Given the description of an element on the screen output the (x, y) to click on. 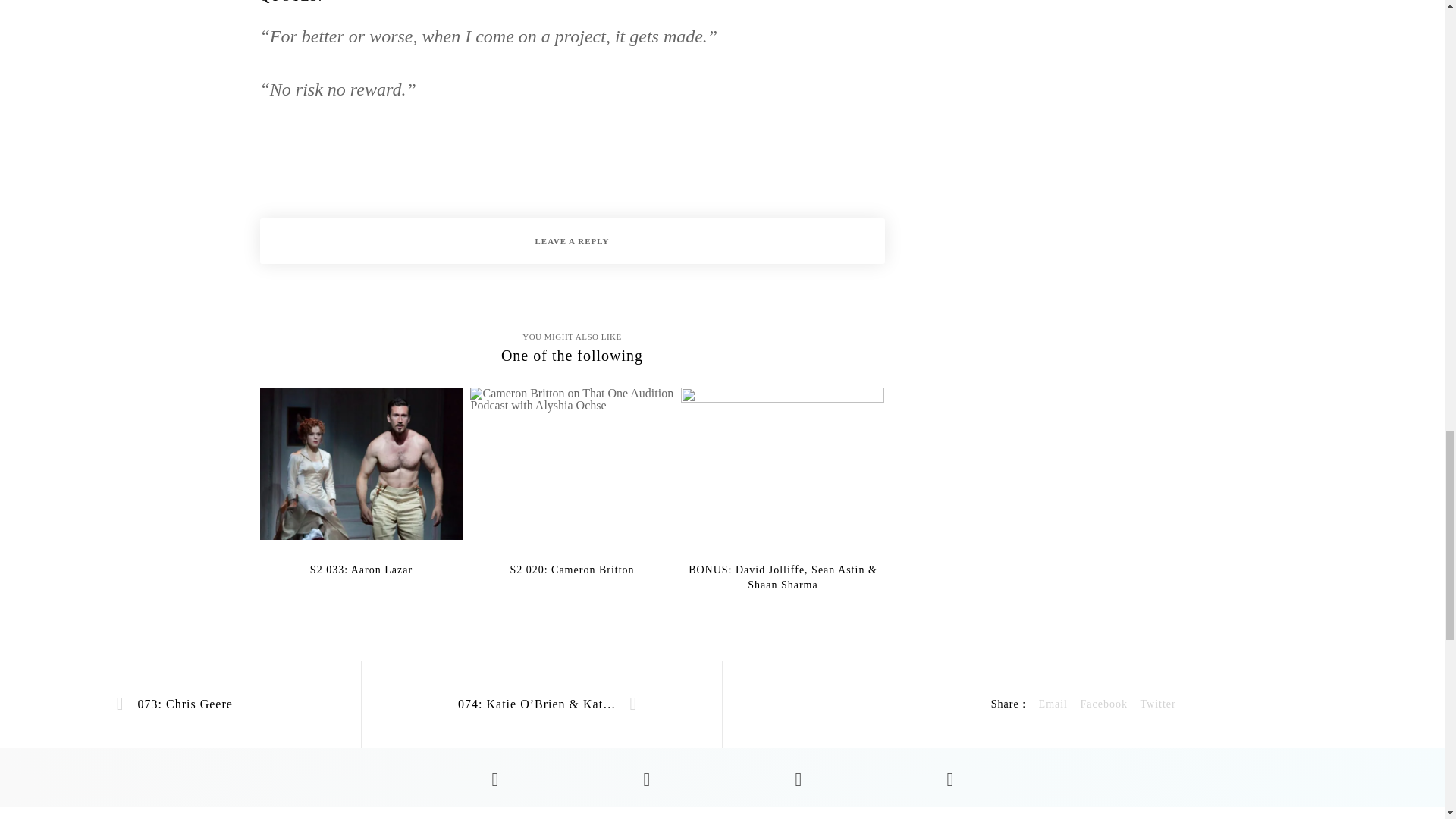
BONUS: Tony Giglio (1103, 704)
BONUS: Tony Giglio (1157, 704)
BONUS: Tony Giglio (1053, 704)
